Given the description of an element on the screen output the (x, y) to click on. 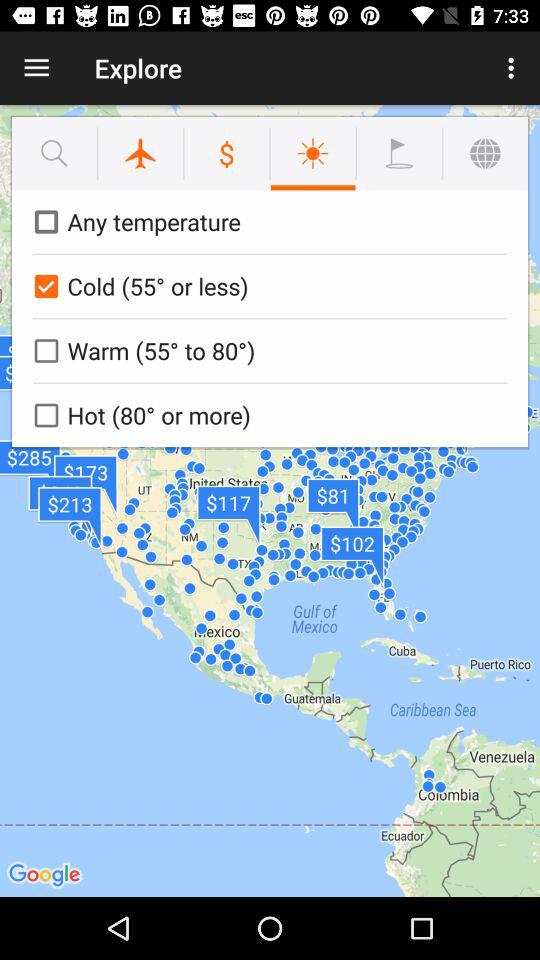
swipe until the hot 80 or (266, 415)
